Given the description of an element on the screen output the (x, y) to click on. 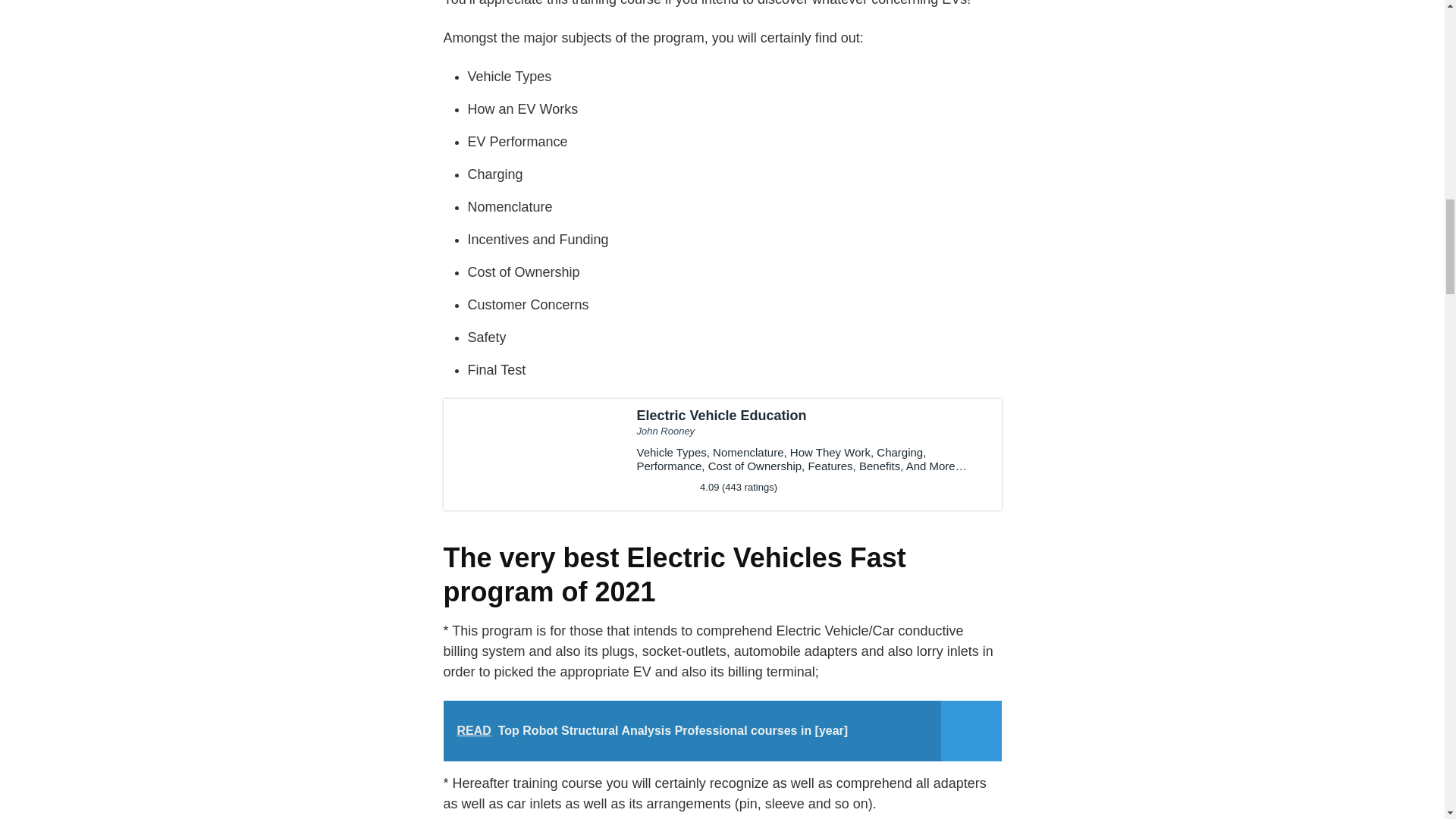
Electric Vehicle Education (721, 454)
